Given the description of an element on the screen output the (x, y) to click on. 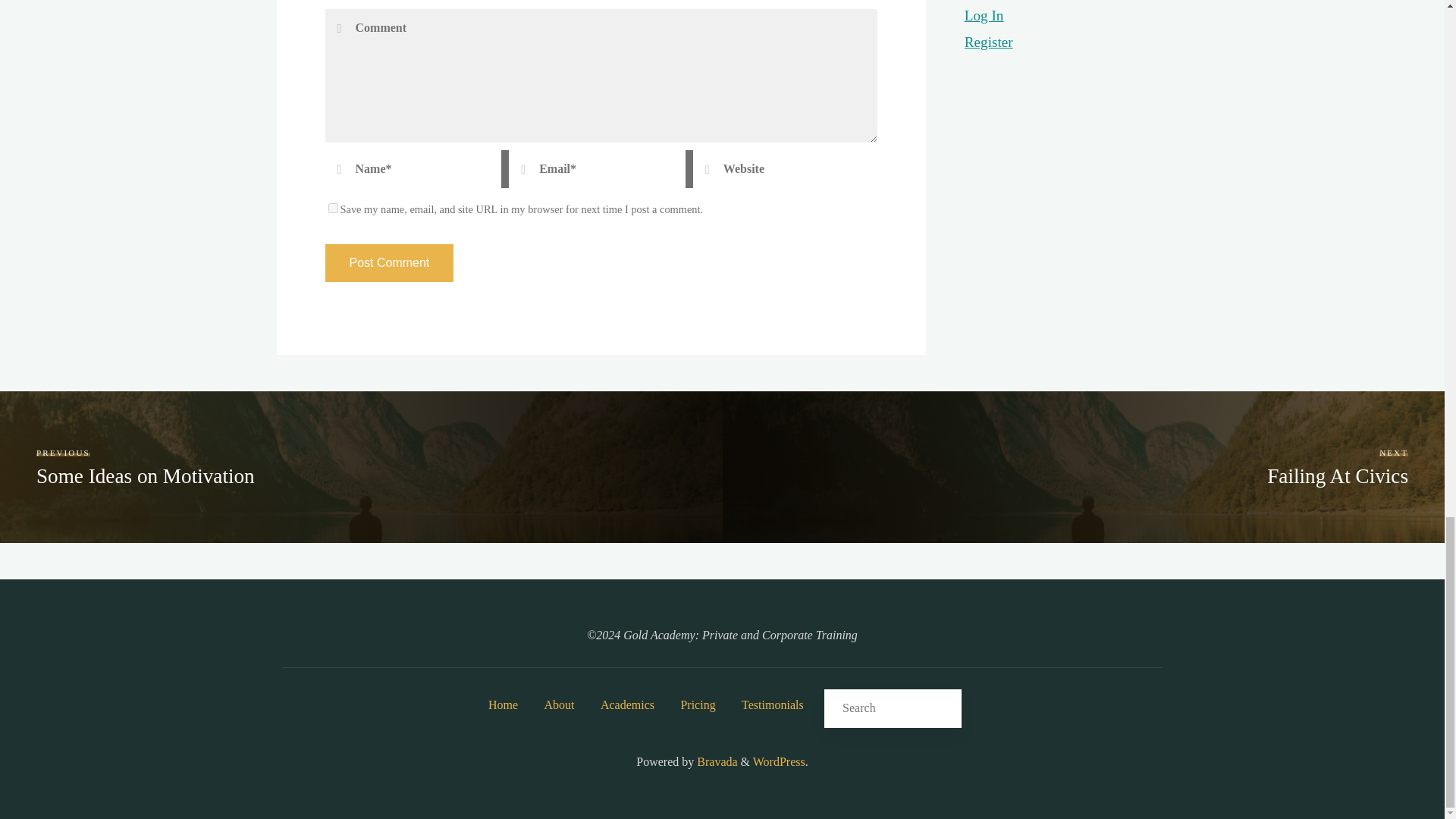
Semantic Personal Publishing Platform (778, 761)
Post Comment (388, 262)
yes (332, 207)
Bravada WordPress Theme by Cryout Creations (715, 761)
